Given the description of an element on the screen output the (x, y) to click on. 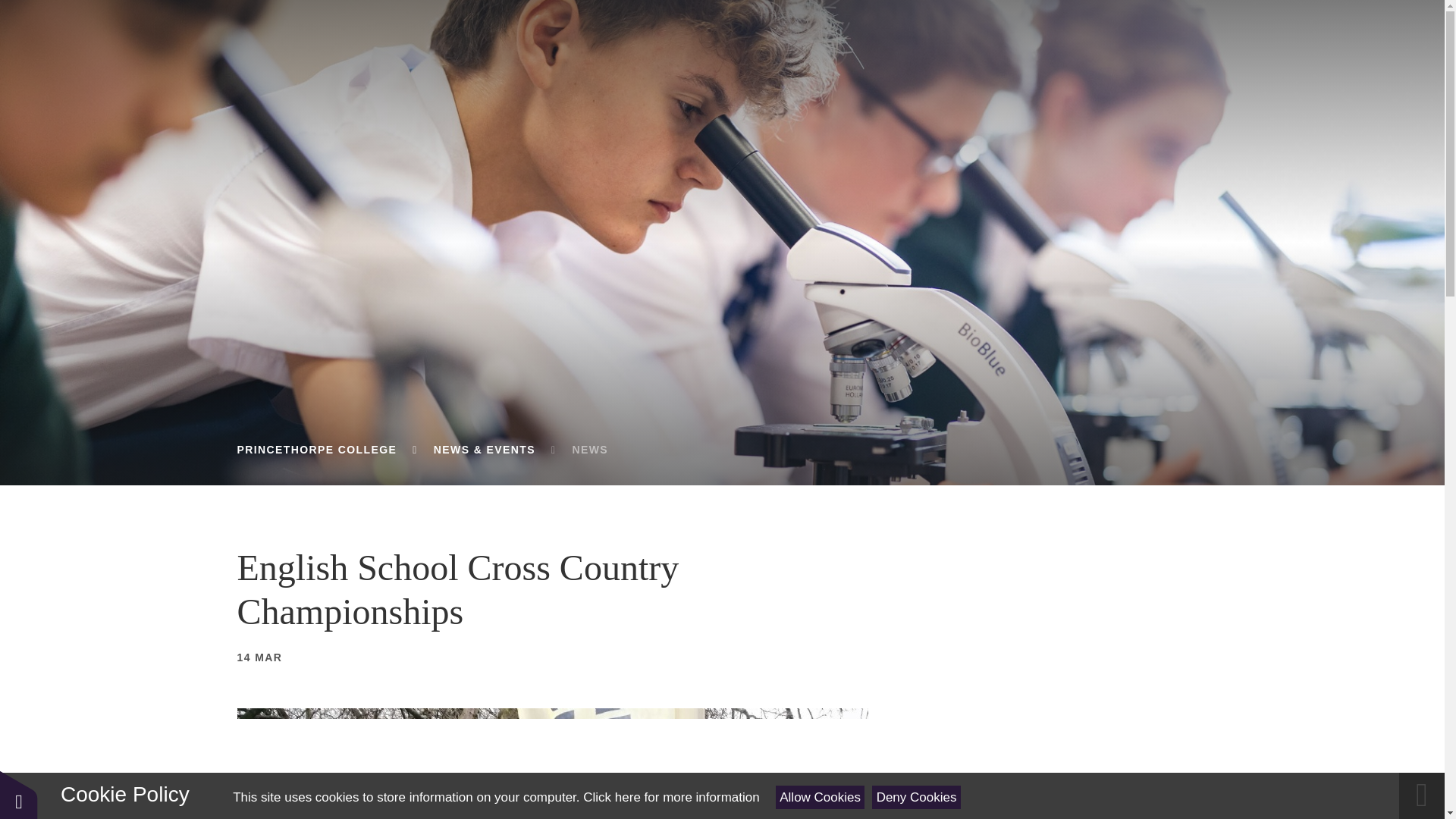
Allow Cookies (820, 797)
See cookie policy (670, 797)
Deny Cookies (915, 797)
